Given the description of an element on the screen output the (x, y) to click on. 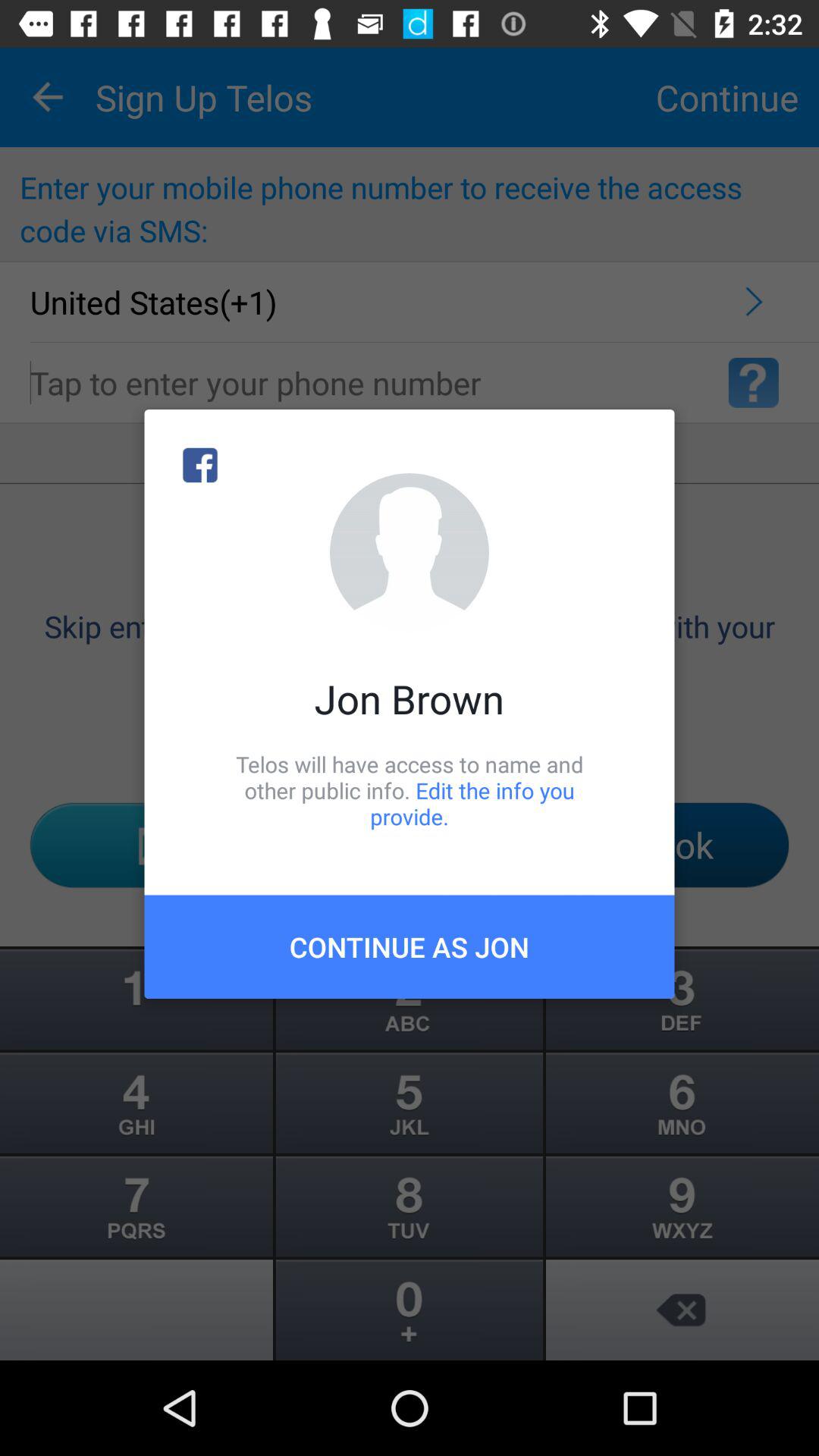
select the continue as jon icon (409, 946)
